Given the description of an element on the screen output the (x, y) to click on. 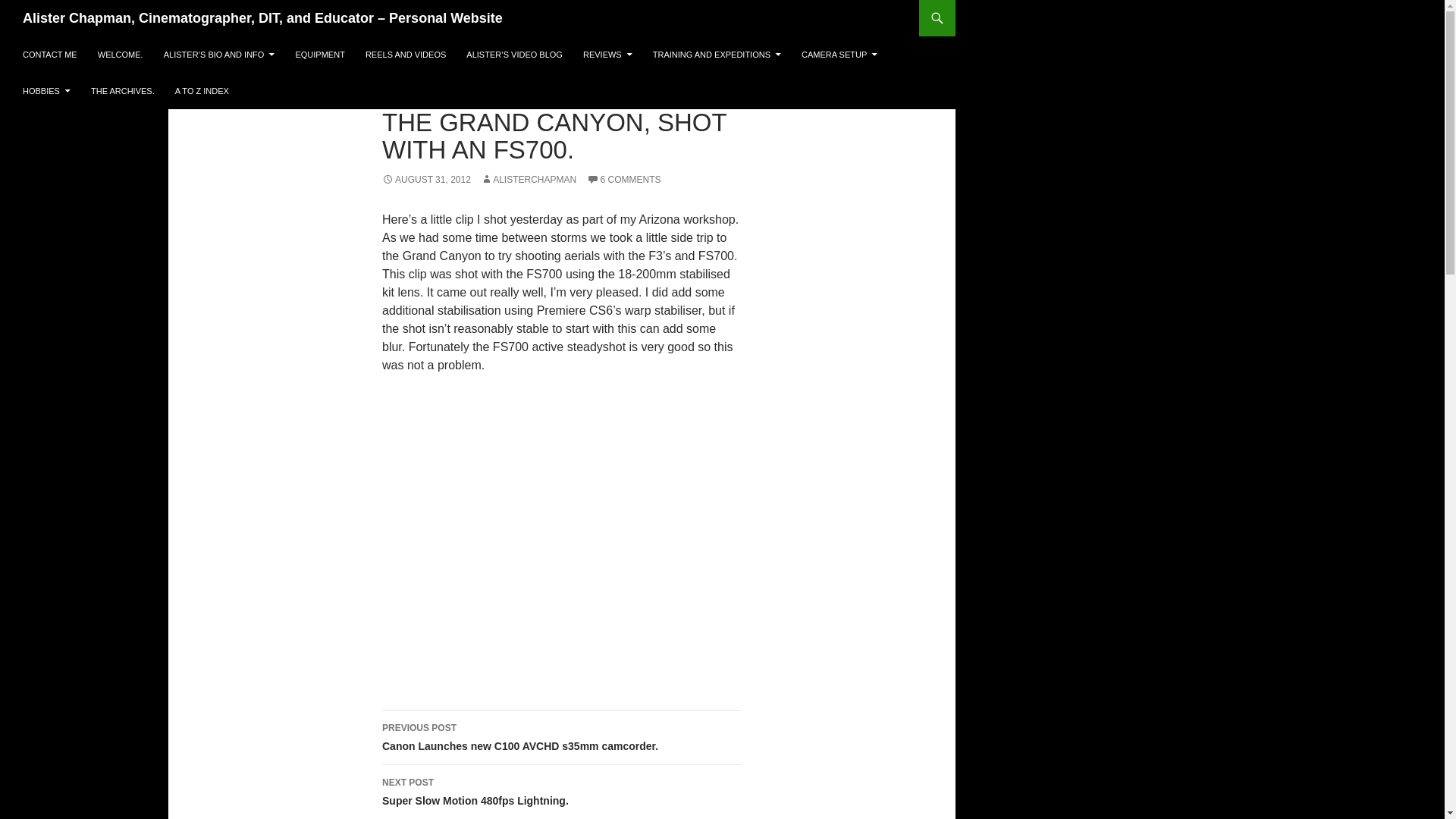
WELCOME. (120, 54)
CONTACT ME (49, 54)
EQUIPMENT (319, 54)
REVIEWS (607, 54)
REELS AND VIDEOS (405, 54)
